Given the description of an element on the screen output the (x, y) to click on. 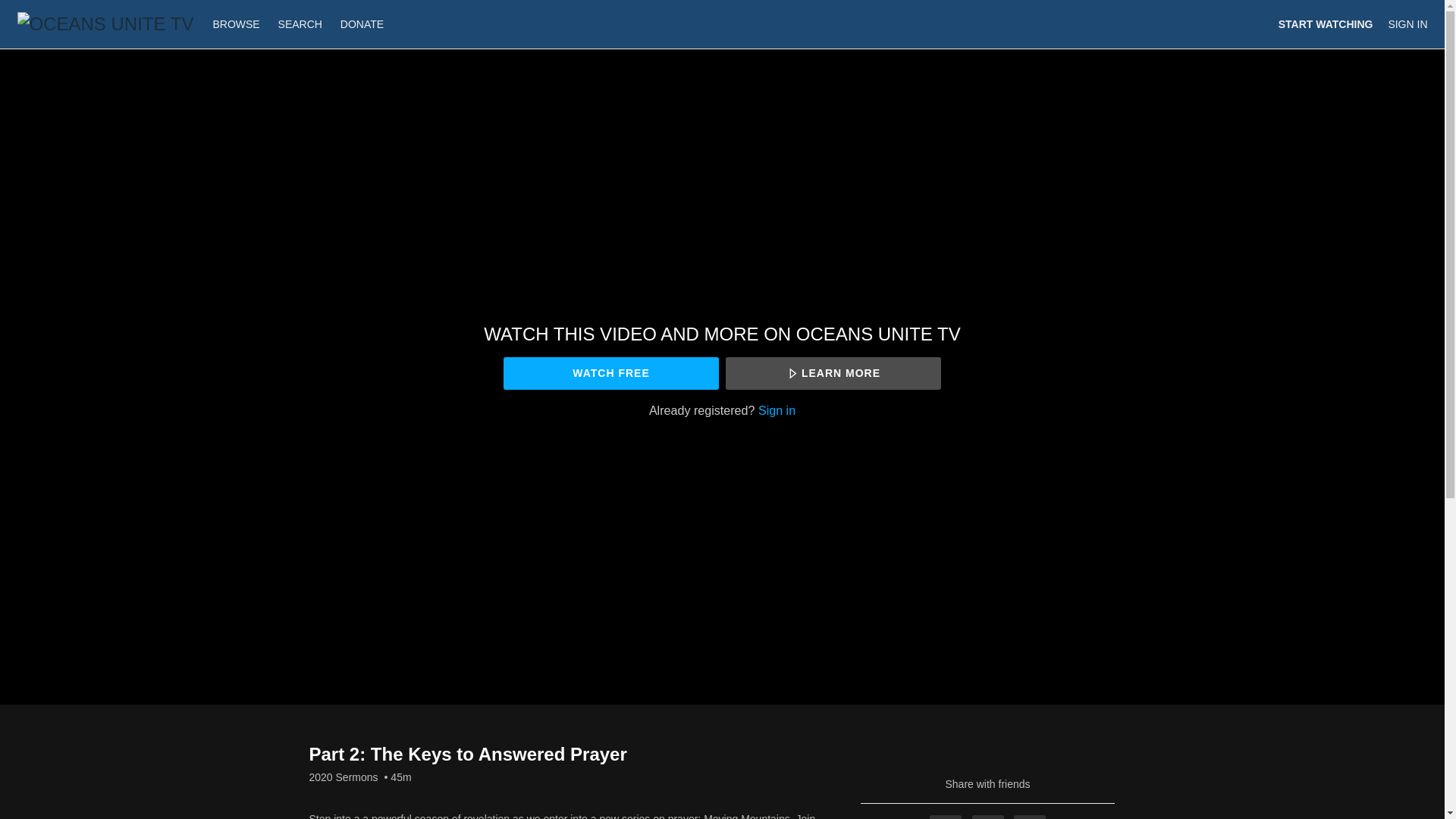
SEARCH (301, 24)
WATCH FREE (610, 373)
Facebook (945, 816)
Sign in (776, 409)
Twitter (988, 816)
BROWSE (237, 24)
SIGN IN (1406, 24)
2020 Sermons (343, 776)
Email (1029, 816)
DONATE (362, 24)
Skip to main content (48, 7)
START WATCHING (1325, 24)
LEARN MORE (832, 373)
